Given the description of an element on the screen output the (x, y) to click on. 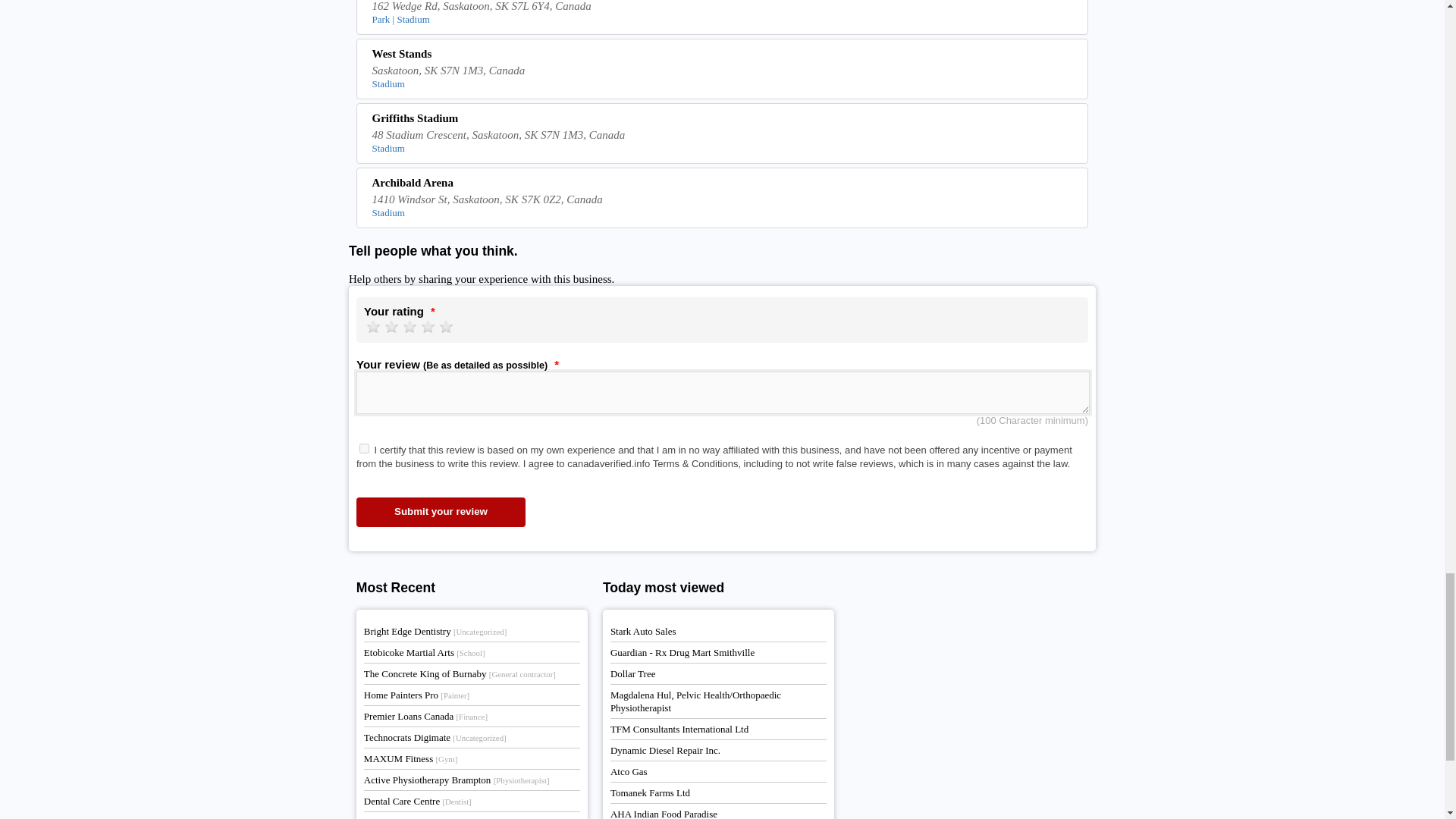
Archibald Arena (722, 184)
West Stands (722, 55)
Griffiths Stadium (722, 120)
Submit your review (440, 512)
true (364, 448)
